Given the description of an element on the screen output the (x, y) to click on. 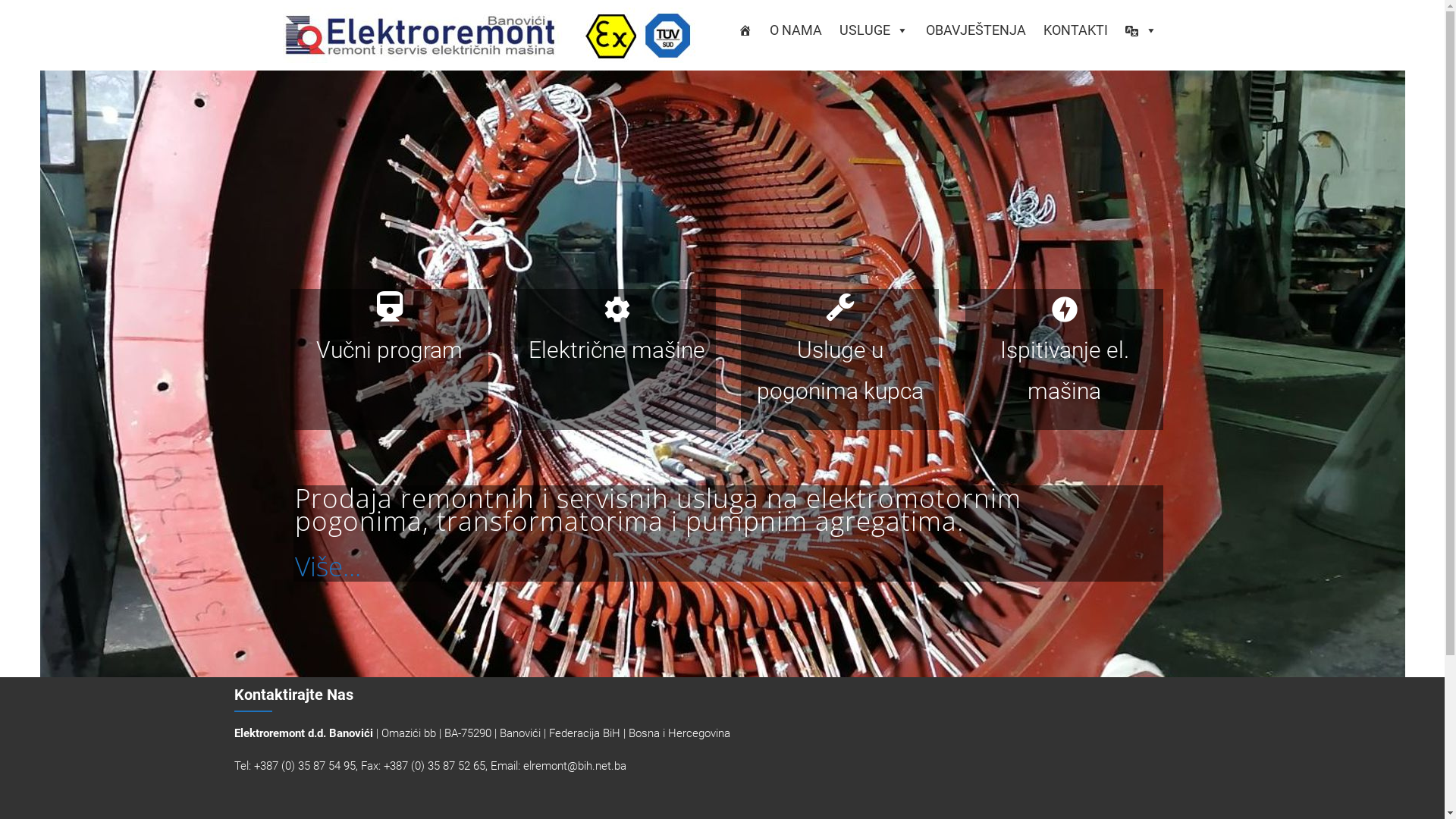
KONTAKTI Element type: text (1075, 30)
USLUGE Element type: text (873, 30)
Usluge u
pogonima kupca Element type: text (839, 358)
O NAMA Element type: text (794, 30)
